Given the description of an element on the screen output the (x, y) to click on. 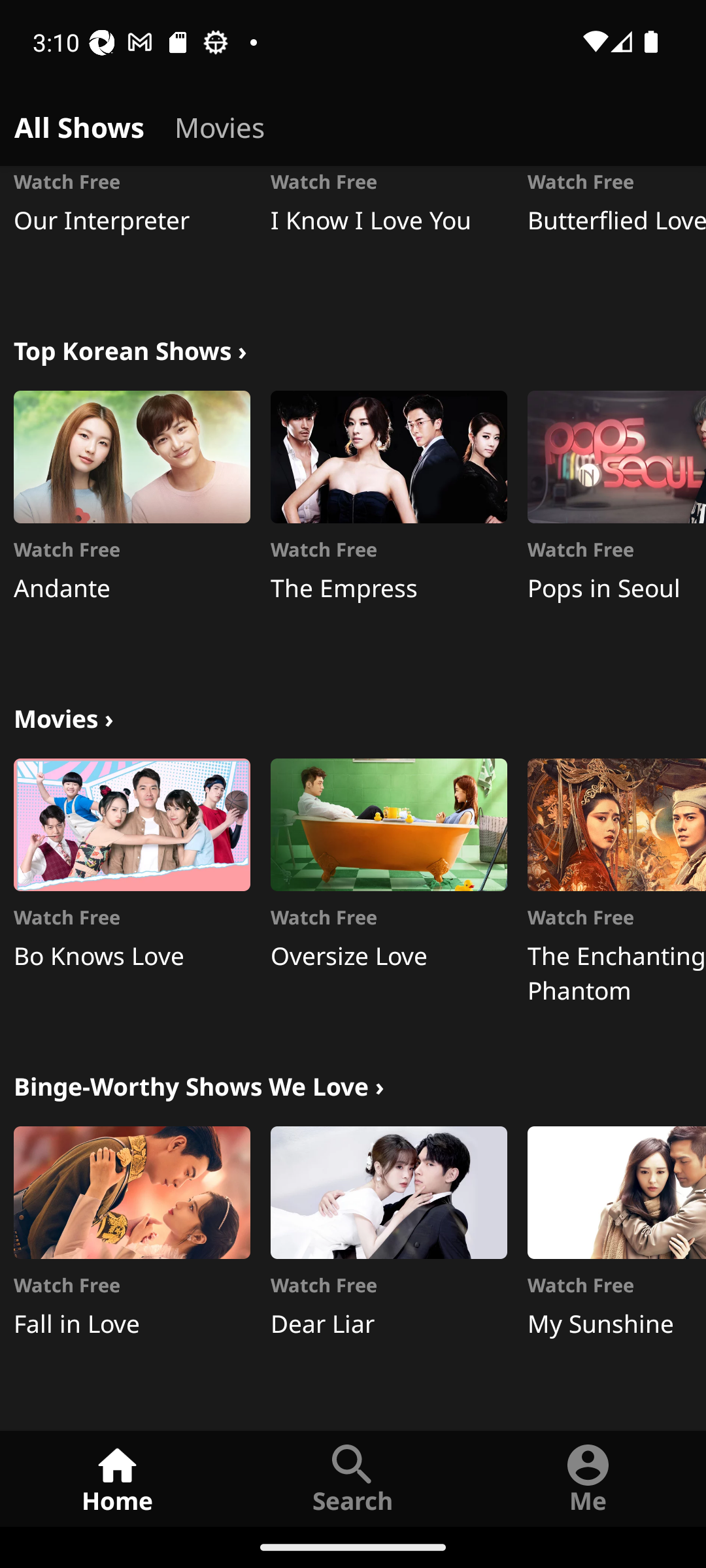
Search (352, 1478)
Me (588, 1478)
